Given the description of an element on the screen output the (x, y) to click on. 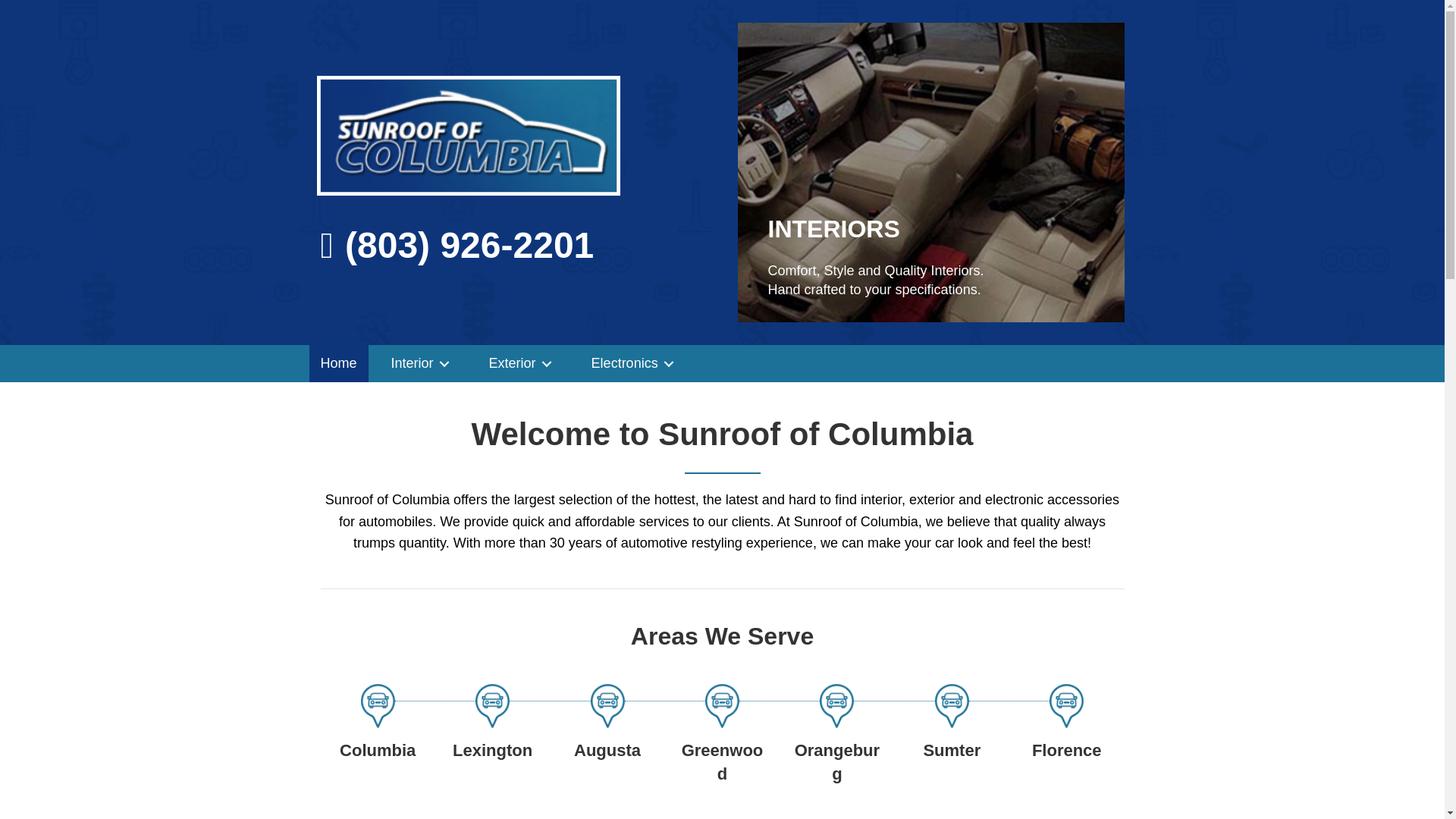
Interior (422, 363)
Electronics (634, 363)
Exterior (523, 363)
Home (338, 363)
